Given the description of an element on the screen output the (x, y) to click on. 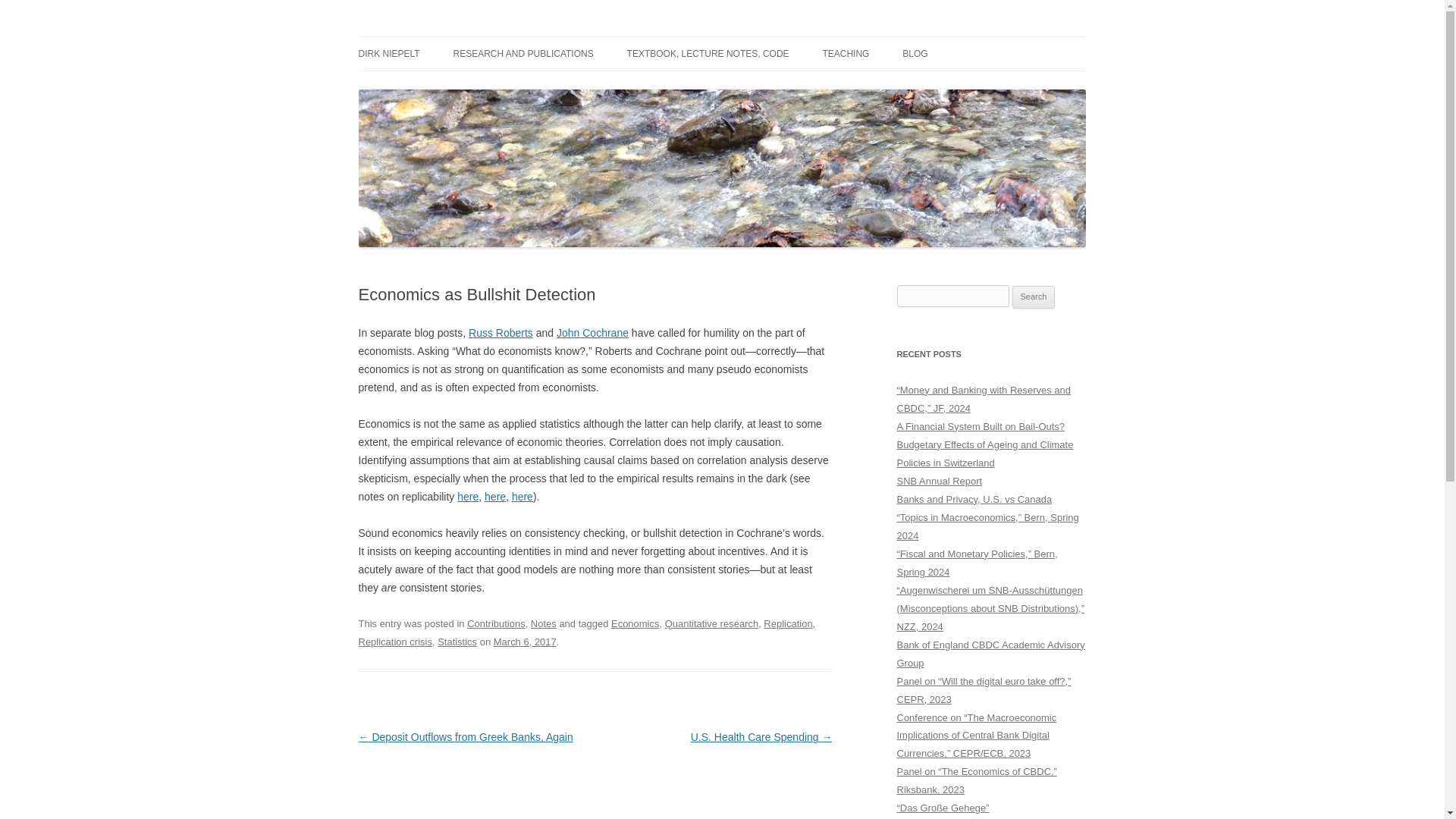
RESEARCH AND PUBLICATIONS (523, 53)
March 6, 2017 (524, 641)
Replication (787, 623)
RESEARCH (978, 85)
here (468, 496)
TEXTBOOK, LECTURE NOTES, CODE (708, 53)
Banks and Privacy, U.S. vs Canada (973, 499)
10:10 am (524, 641)
Russ Roberts (500, 332)
here (522, 496)
Search (1033, 296)
Statistics (457, 641)
SNB Annual Report (938, 480)
Notes (543, 623)
